Given the description of an element on the screen output the (x, y) to click on. 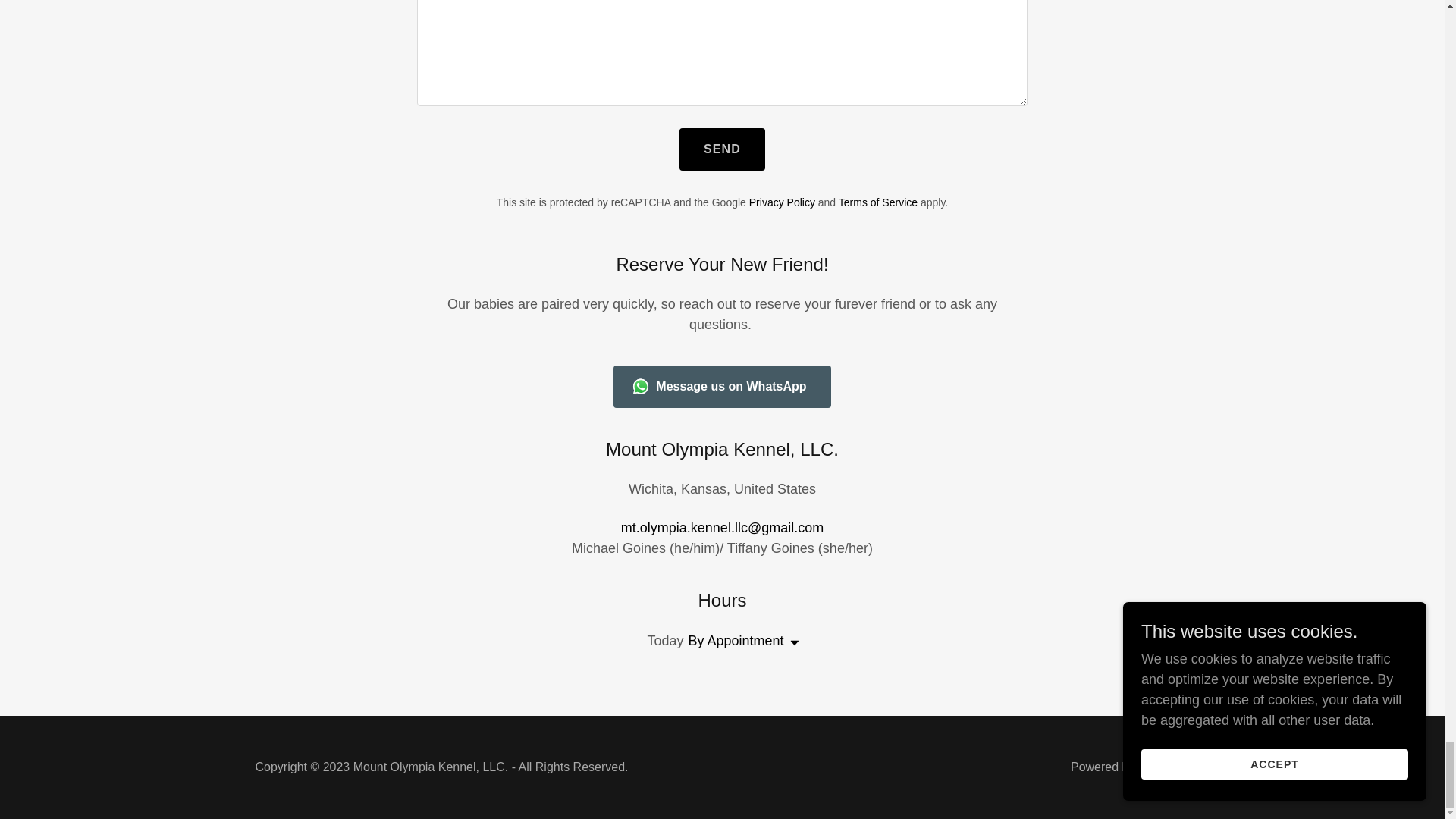
Message us on WhatsApp (720, 386)
SEND (722, 148)
Terms of Service (877, 202)
Privacy Policy (782, 202)
GoDaddy (1163, 766)
